Given the description of an element on the screen output the (x, y) to click on. 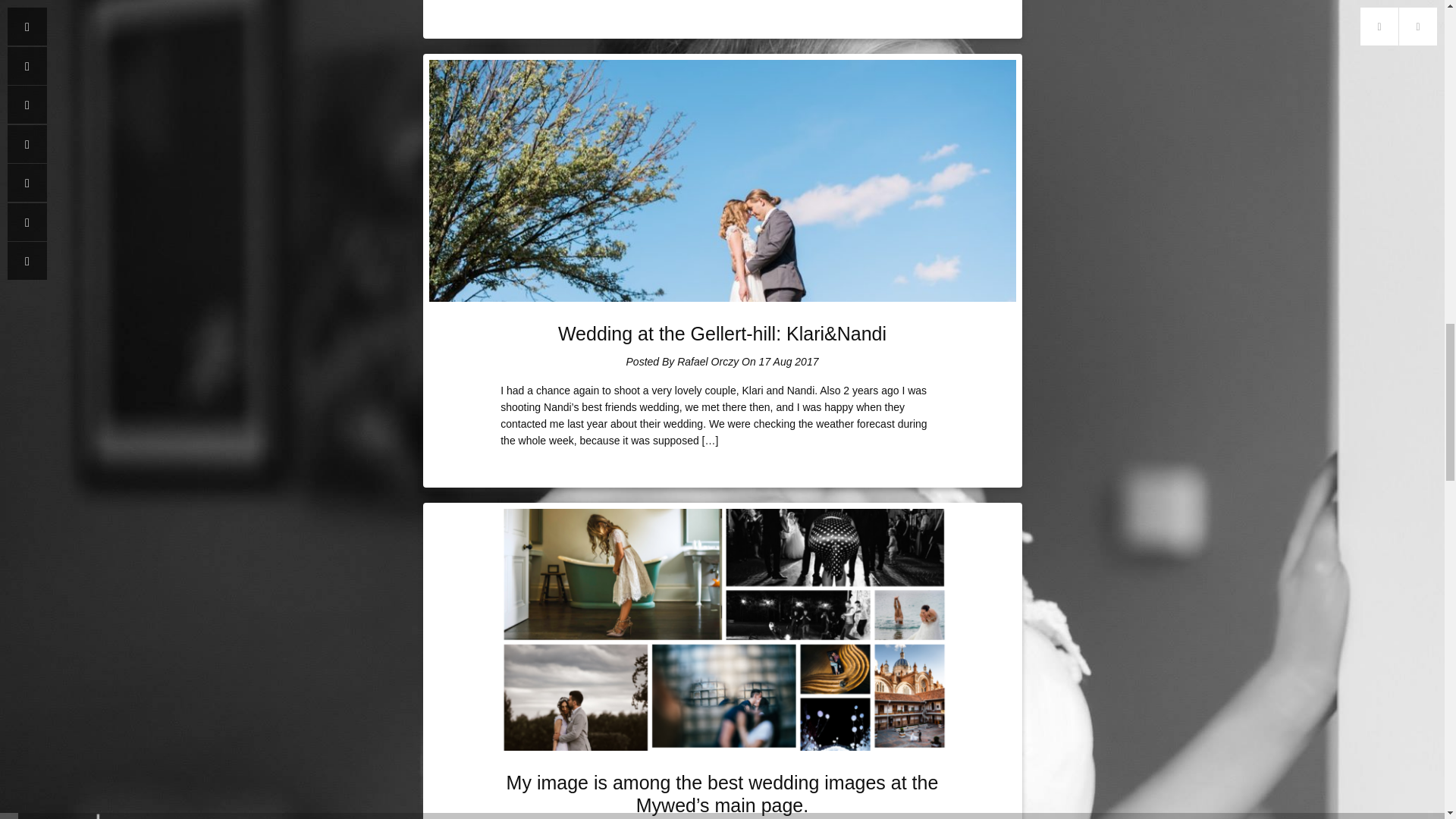
Rafael Orczy (707, 361)
Posts by Rafael Orczy (707, 361)
